Given the description of an element on the screen output the (x, y) to click on. 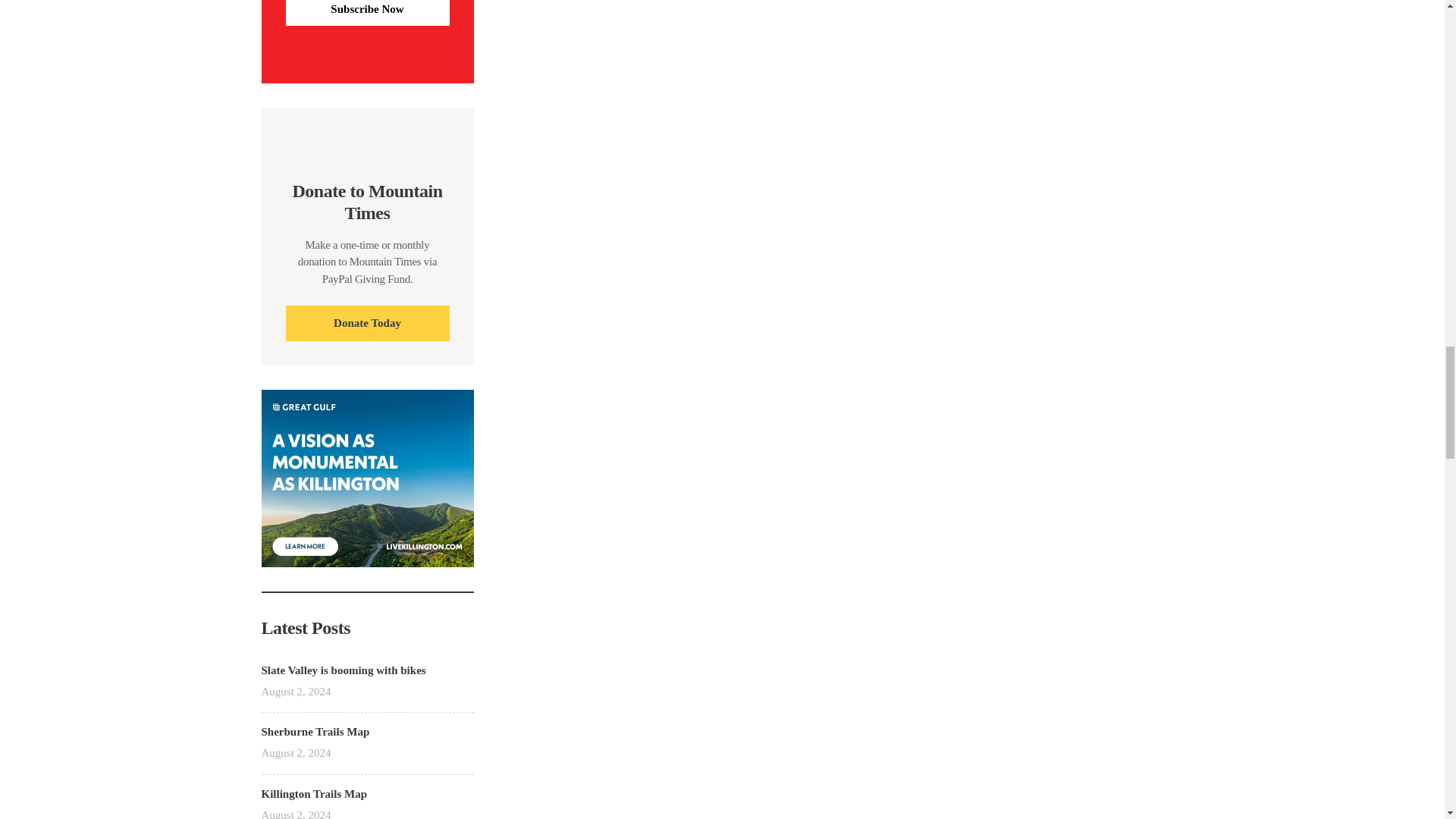
Donate Today (366, 323)
Subscribe Now (366, 12)
